Given the description of an element on the screen output the (x, y) to click on. 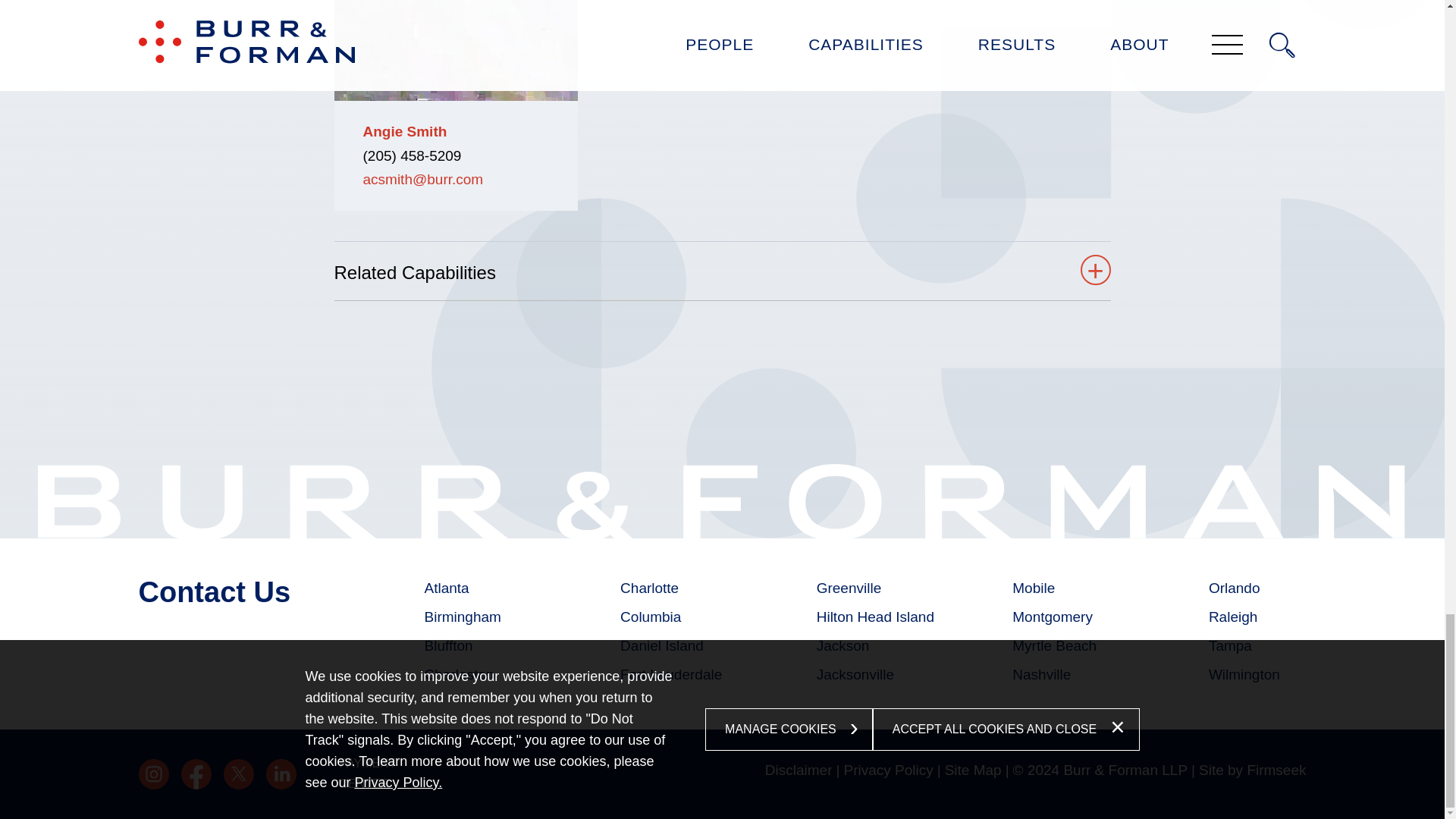
Twitter (237, 774)
Instagram (153, 774)
Facebook (195, 774)
Linkedin (279, 774)
